Given the description of an element on the screen output the (x, y) to click on. 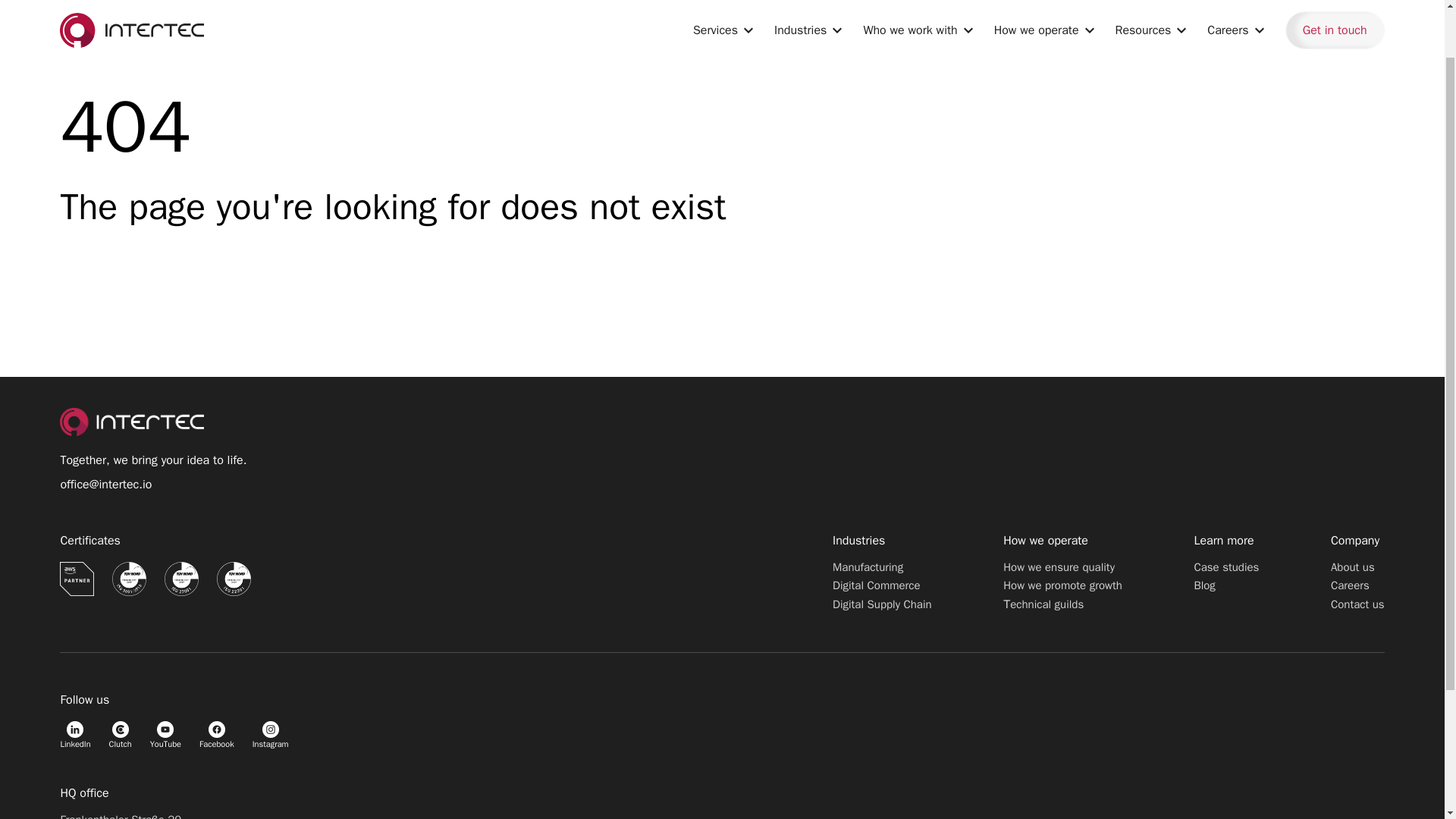
Digital Supply Chain (881, 603)
Digital Commerce (876, 585)
LinkedIn (74, 736)
YouTube (164, 736)
Instagram (269, 736)
Manufacturing (867, 567)
Blog (1203, 585)
Case studies (1226, 567)
About us (1352, 567)
Careers (1350, 585)
